Given the description of an element on the screen output the (x, y) to click on. 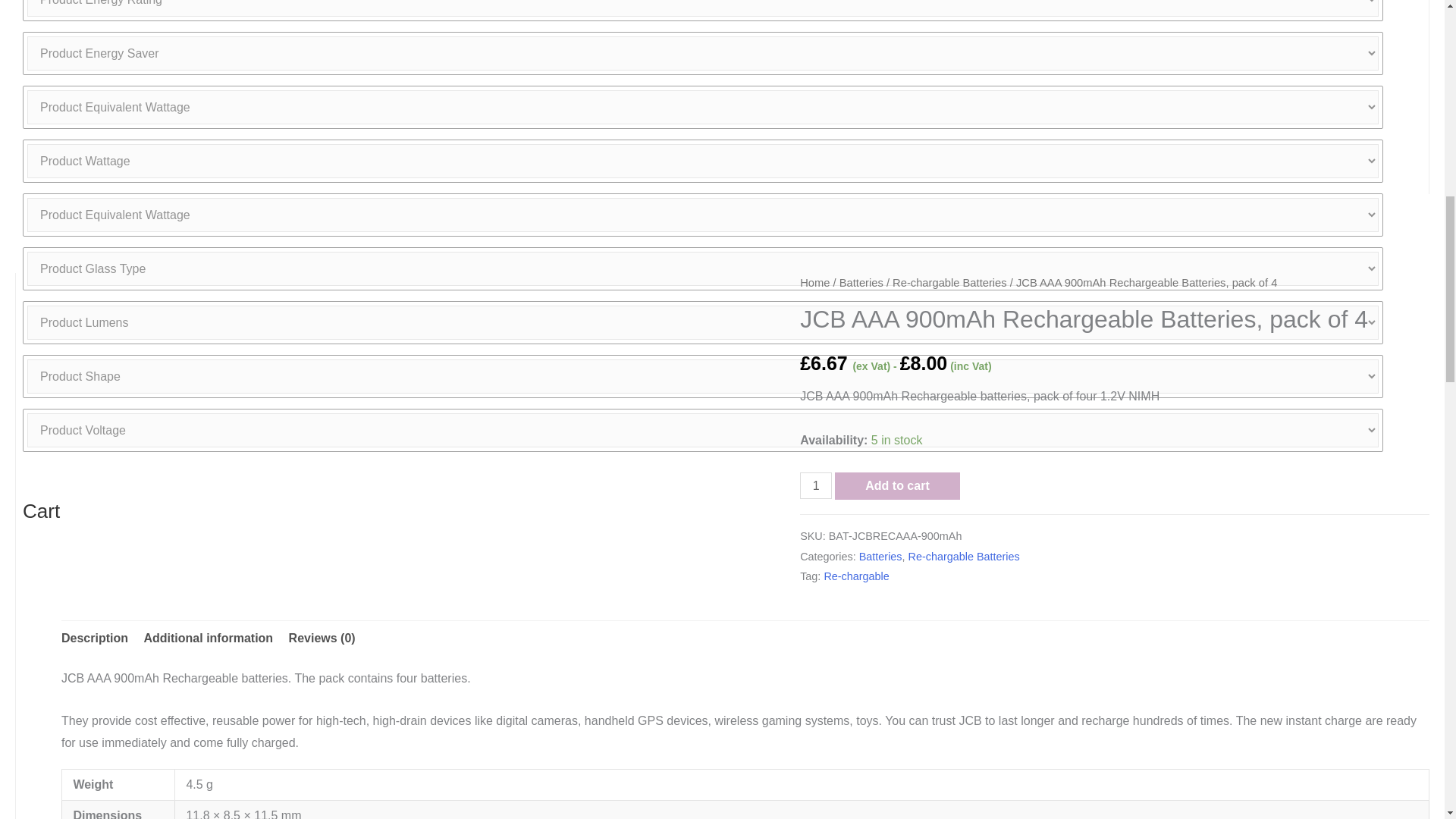
1 (815, 485)
Qty (815, 485)
